Given the description of an element on the screen output the (x, y) to click on. 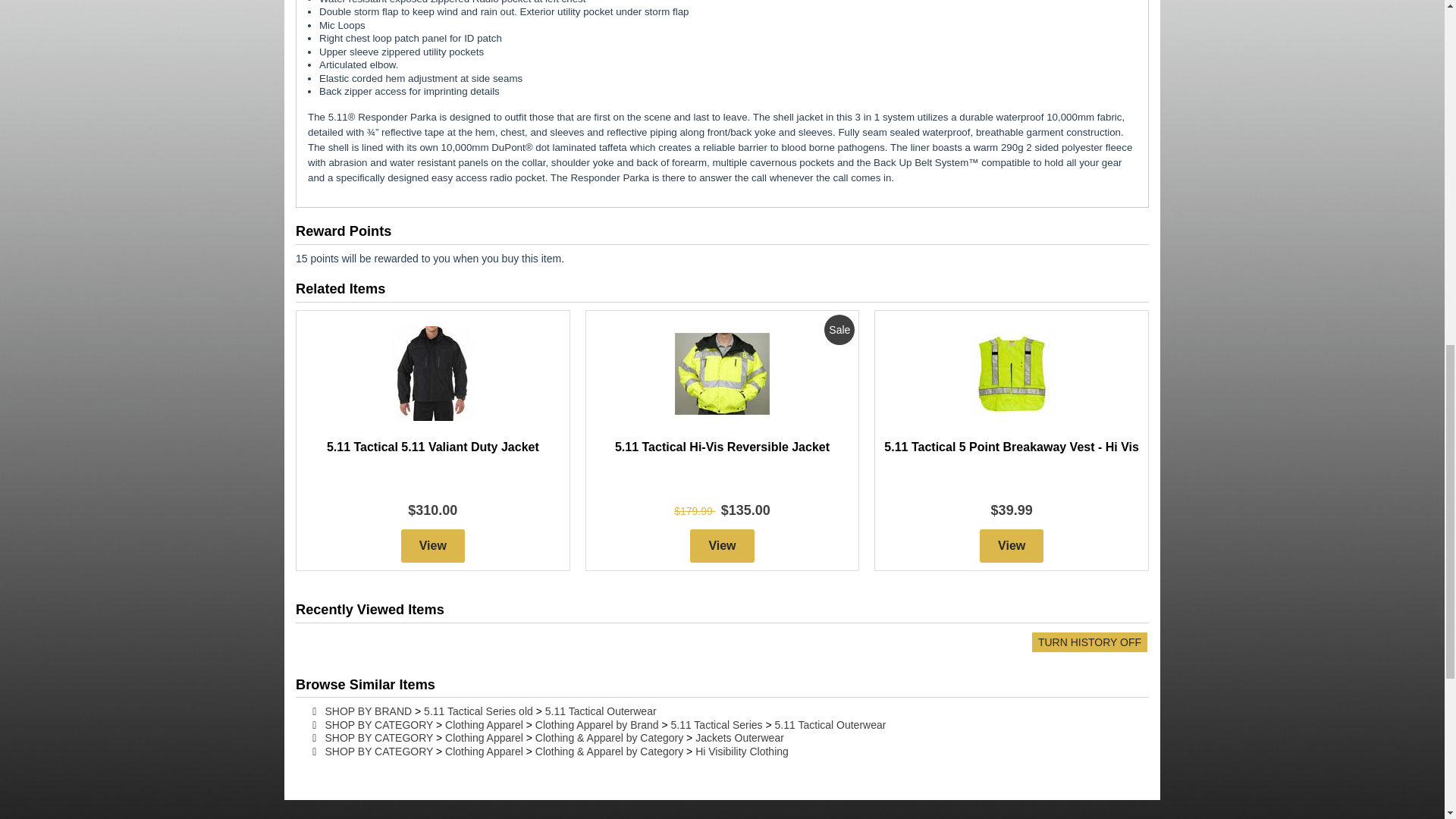
Turn History Off (1089, 641)
View (432, 545)
View (722, 545)
View (1011, 545)
